Given the description of an element on the screen output the (x, y) to click on. 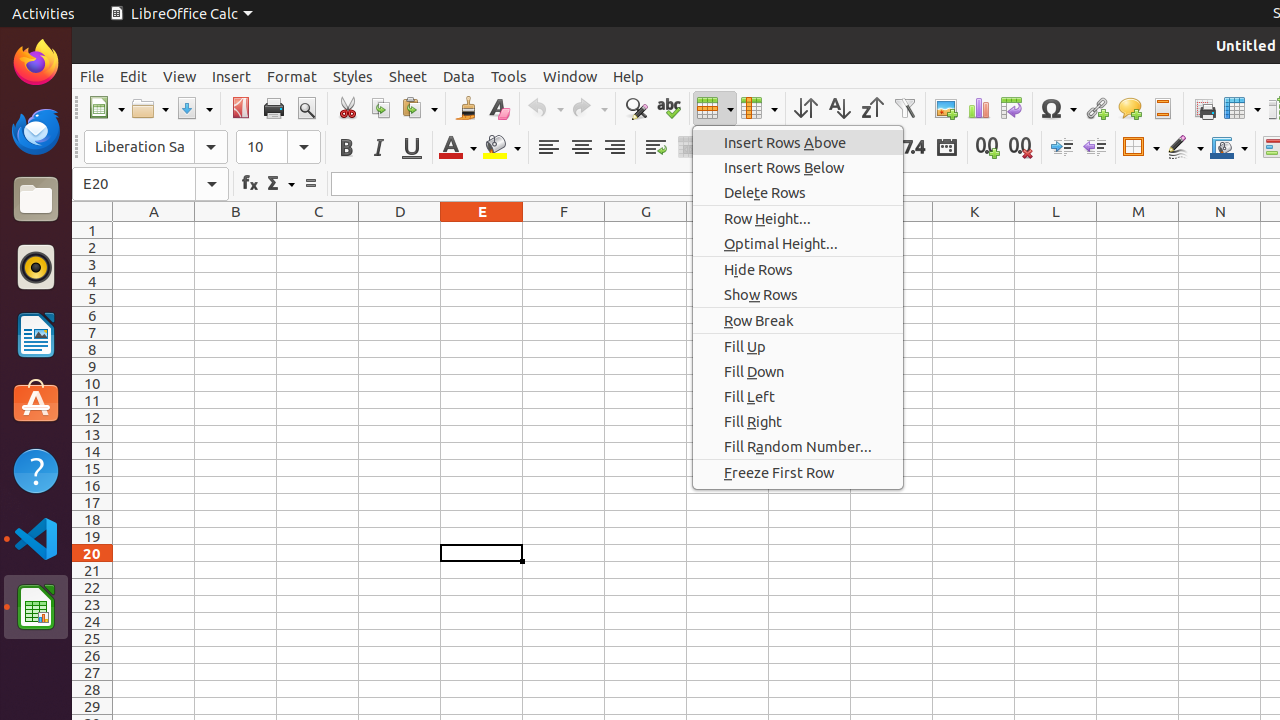
Files Element type: push-button (36, 199)
Thunderbird Mail Element type: push-button (36, 131)
Visual Studio Code Element type: push-button (36, 538)
Firefox Web Browser Element type: push-button (36, 63)
